Given the description of an element on the screen output the (x, y) to click on. 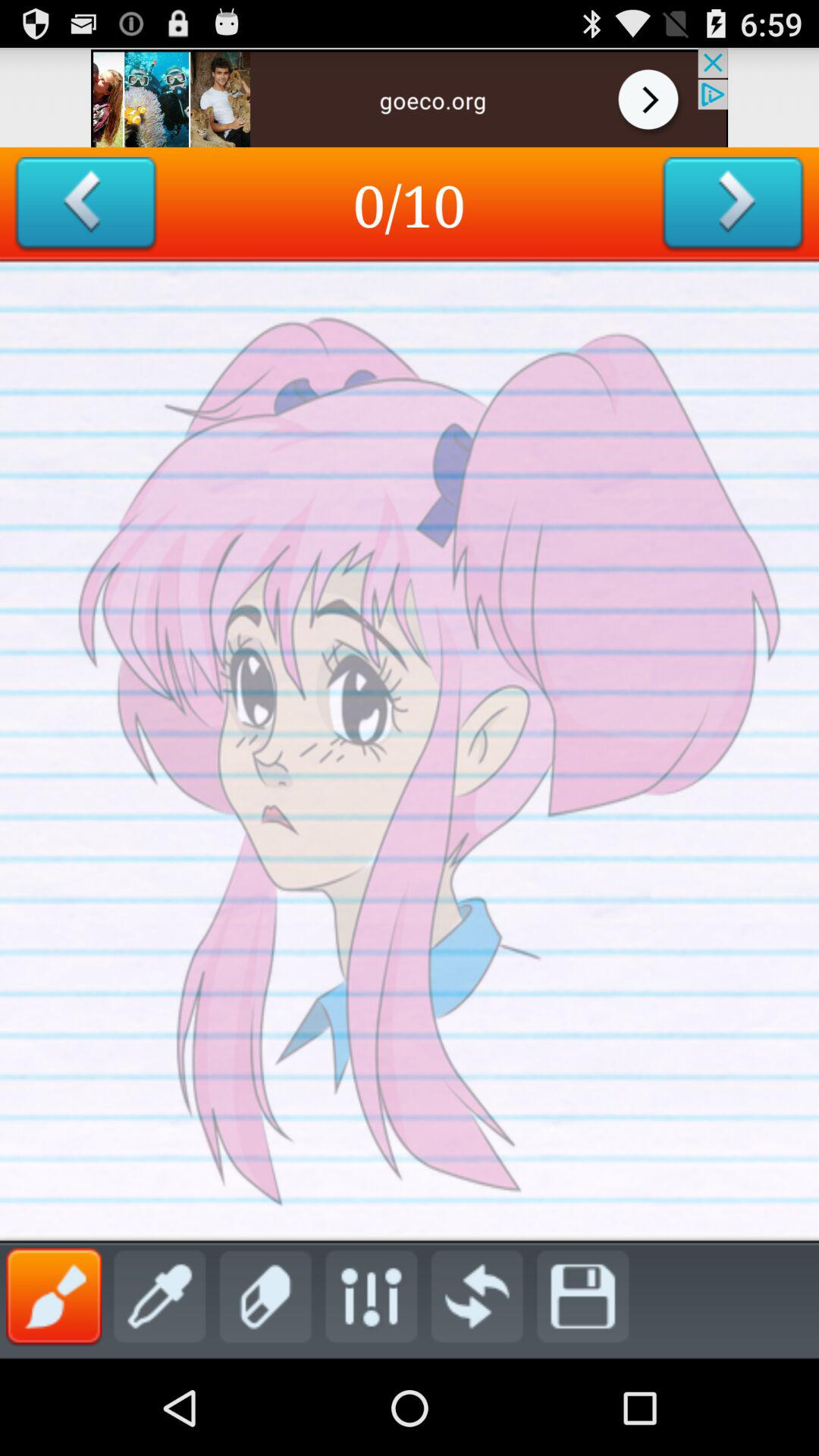
back word (85, 204)
